Given the description of an element on the screen output the (x, y) to click on. 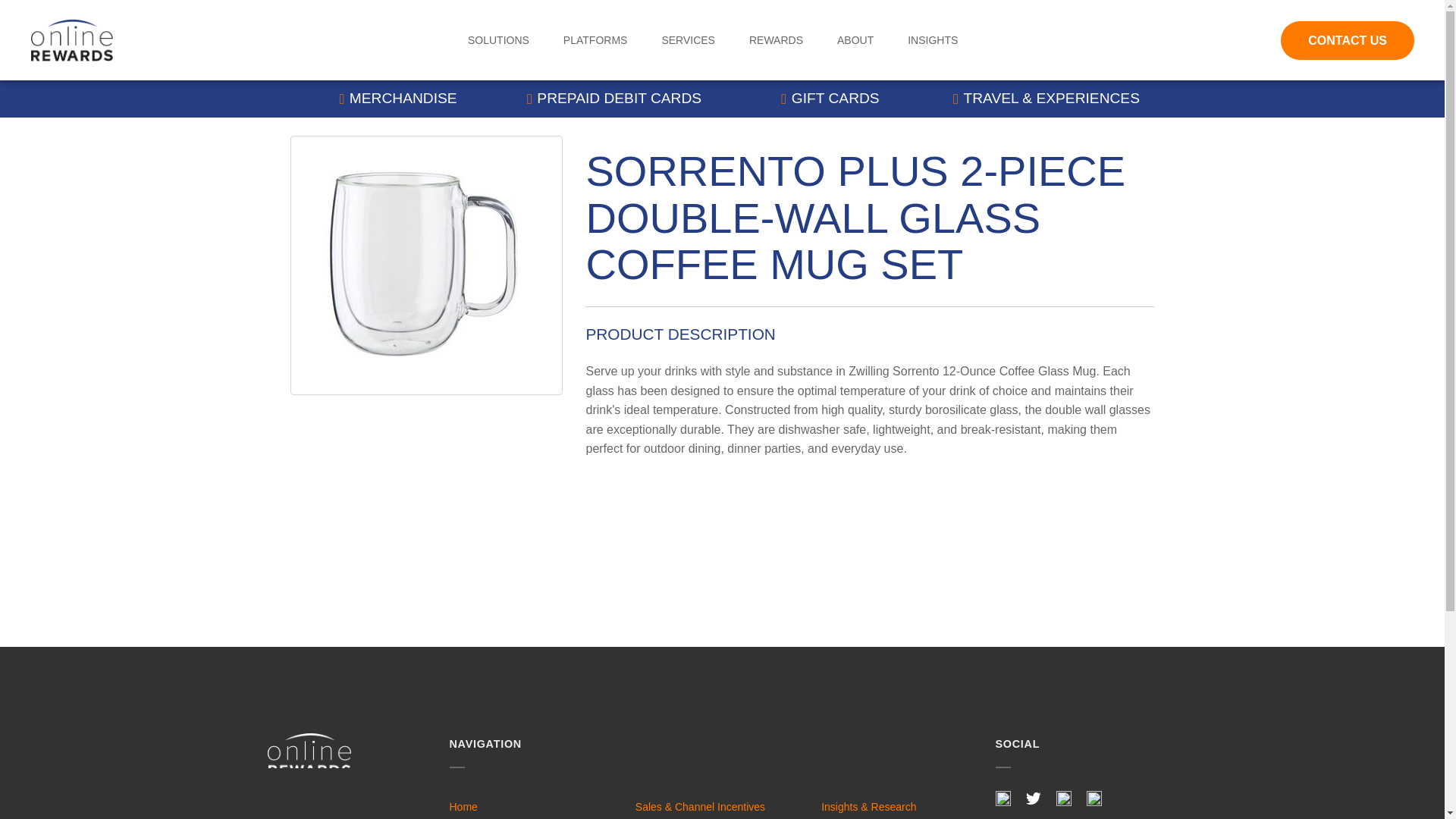
ABOUT (855, 40)
CONTACT US (1347, 40)
MERCHANDISE (397, 98)
PREPAID DEBIT CARDS (614, 98)
GIFT CARDS (829, 98)
REWARDS (776, 40)
PLATFORMS (595, 40)
INSIGHTS (932, 40)
SOLUTIONS (498, 40)
SERVICES (687, 40)
